Given the description of an element on the screen output the (x, y) to click on. 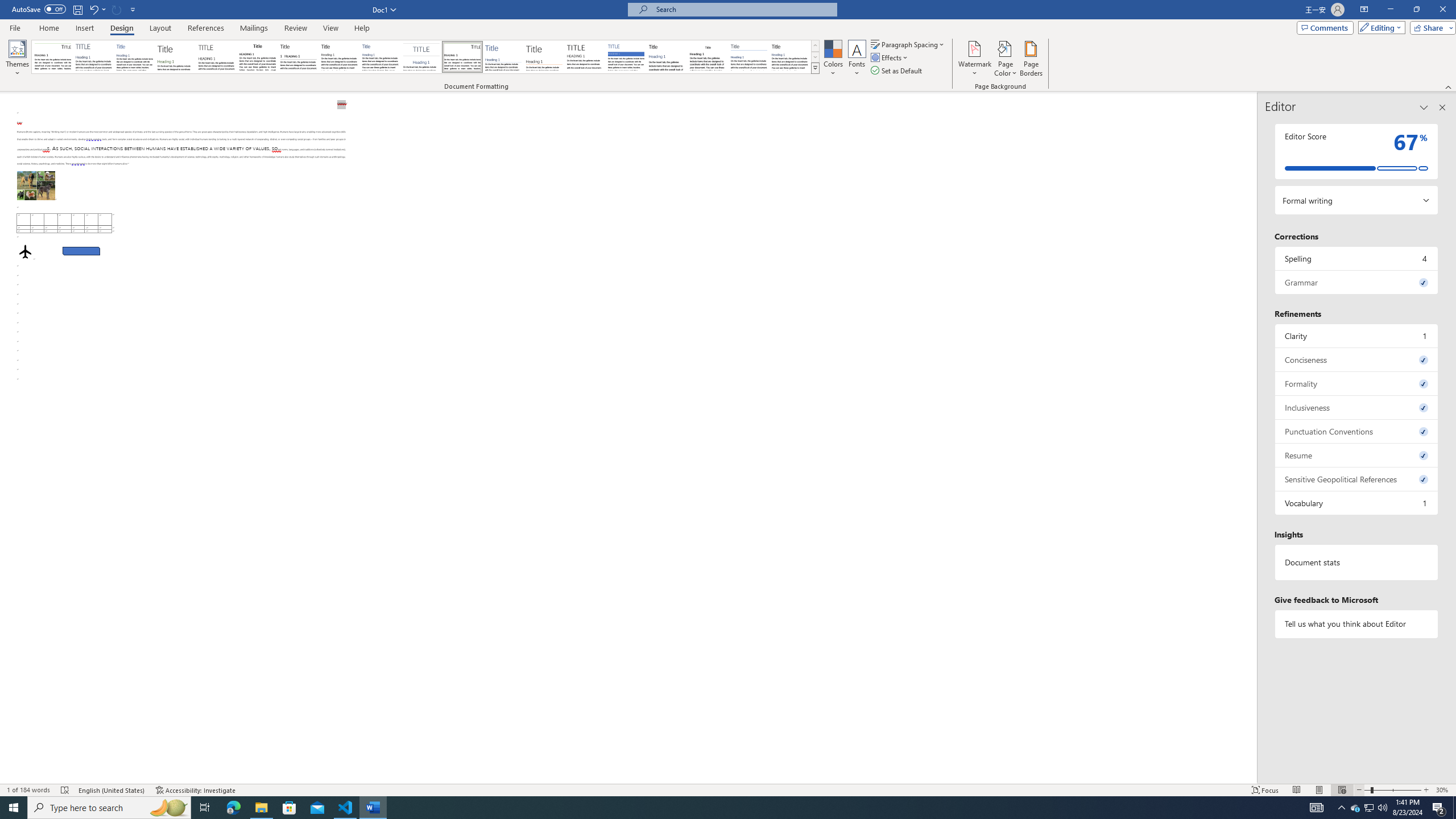
Undo Apply Quick Style Set (96, 9)
Collapse the Ribbon (1448, 86)
Black & White (Capitalized) (216, 56)
Help (361, 28)
Class: NetUIImage (815, 68)
Clarity, 1 issue. Press space or enter to review items. (1356, 335)
Zoom 30% (1443, 790)
Word 2013 (790, 56)
Minimize (1390, 9)
Class: MsoCommandBar (728, 45)
Home (48, 28)
Formality, 0 issues. Press space or enter to review items. (1356, 383)
Basic (Elegant) (93, 56)
Word 2003 (707, 56)
